Given the description of an element on the screen output the (x, y) to click on. 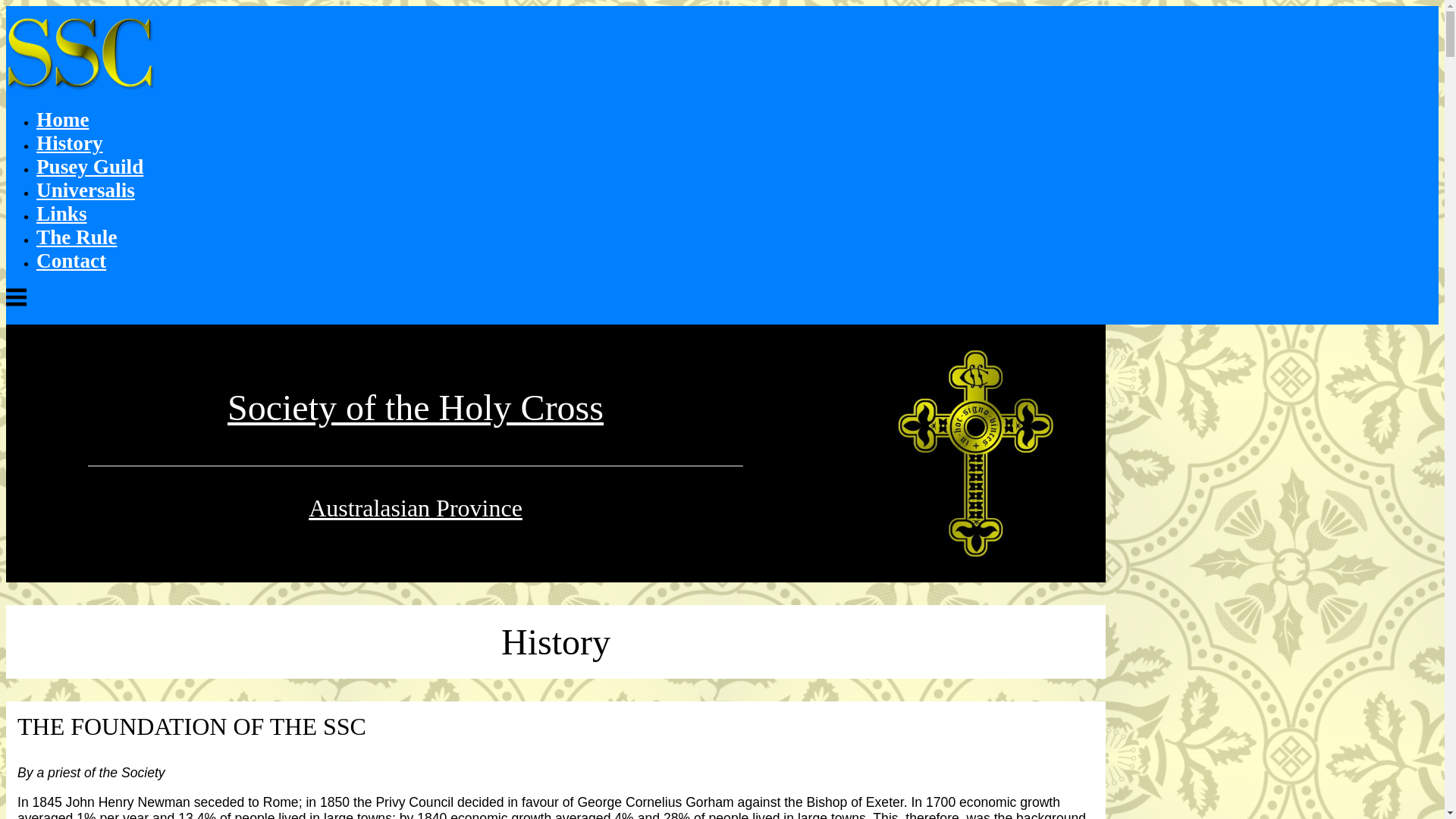
The Rule Element type: text (76, 236)
Home Element type: text (62, 119)
Universalis Element type: text (85, 189)
Contact Element type: text (71, 260)
Australasian Province Element type: text (415, 507)
Society of the Holy Cross Element type: text (415, 407)
Skip to content Element type: text (5, 5)
cropped-SSC_Logo.jpg Element type: hover (976, 453)
History Element type: text (69, 142)
Links Element type: text (61, 213)
Menu Element type: text (16, 304)
Pusey Guild Element type: text (89, 166)
